Given the description of an element on the screen output the (x, y) to click on. 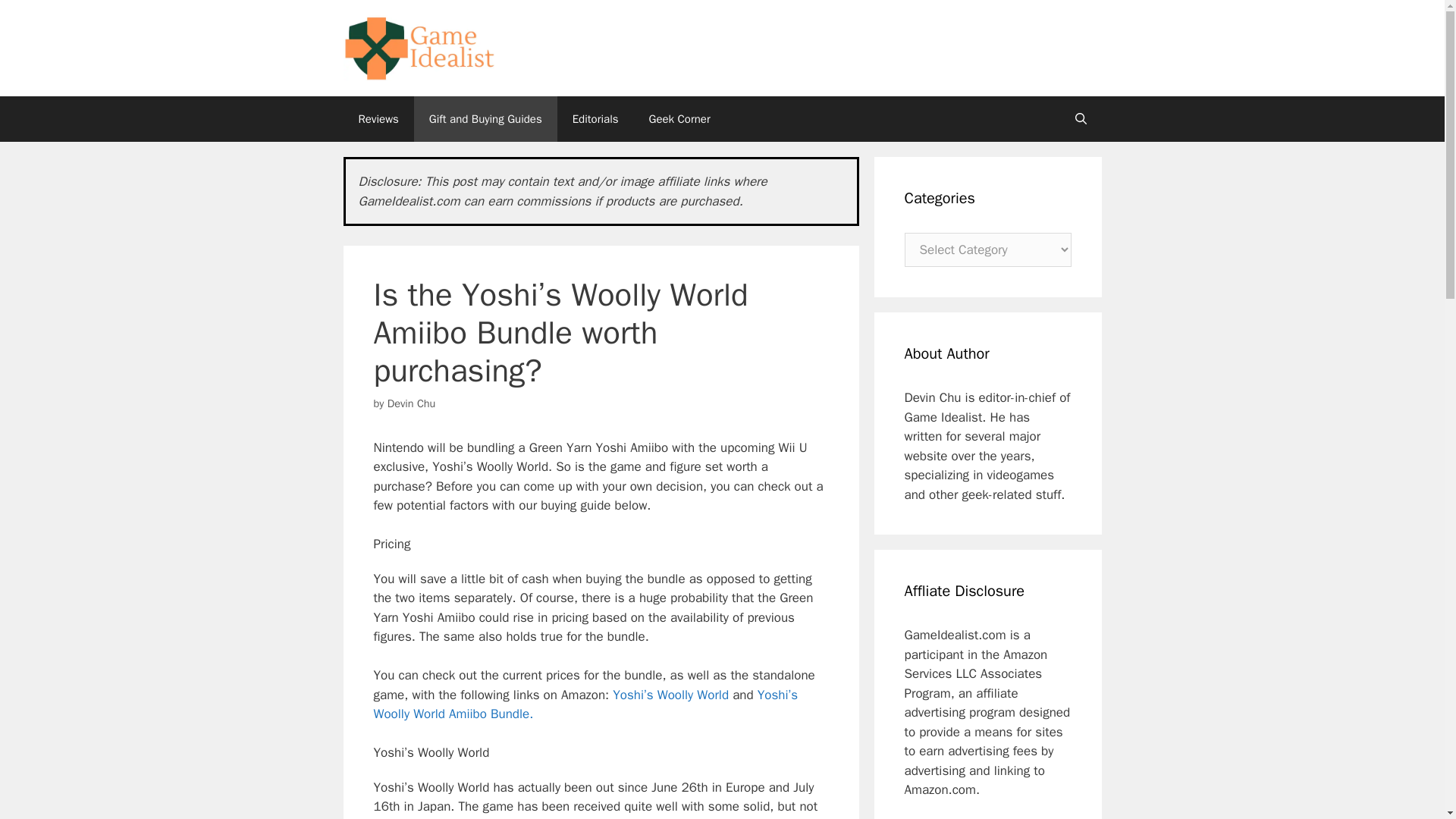
Editorials (595, 118)
Geek Corner (679, 118)
Reviews (377, 118)
View all posts by Devin Chu (411, 403)
Gift and Buying Guides (485, 118)
Devin Chu (411, 403)
